Given the description of an element on the screen output the (x, y) to click on. 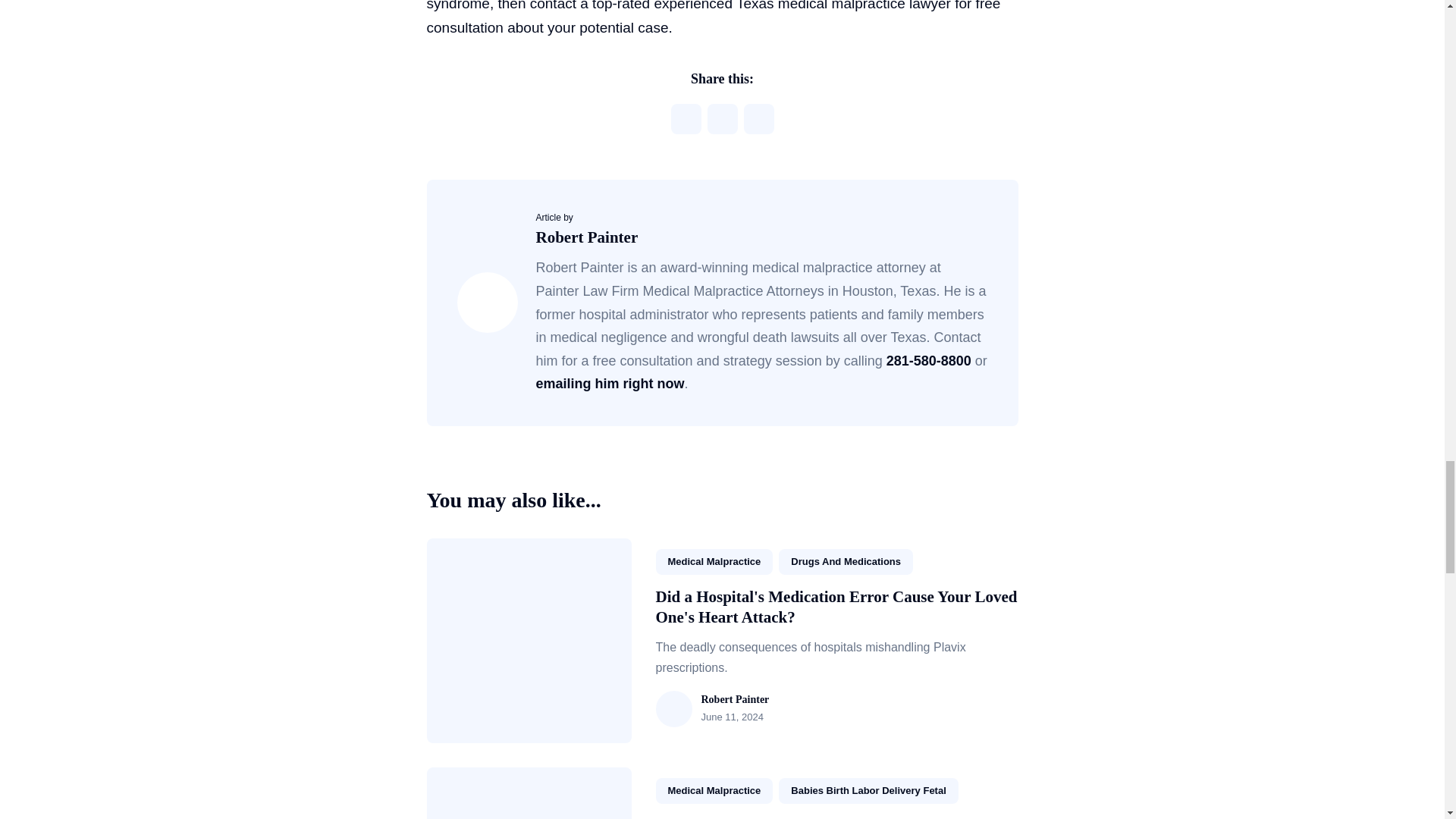
Share on LinkedIn (757, 119)
281-580-8800 (928, 360)
Medical Malpractice (714, 561)
Share on Facebook (721, 119)
emailing him right now (609, 383)
Share on X (684, 119)
Robert Painter (586, 237)
Drugs And Medications (845, 561)
